Given the description of an element on the screen output the (x, y) to click on. 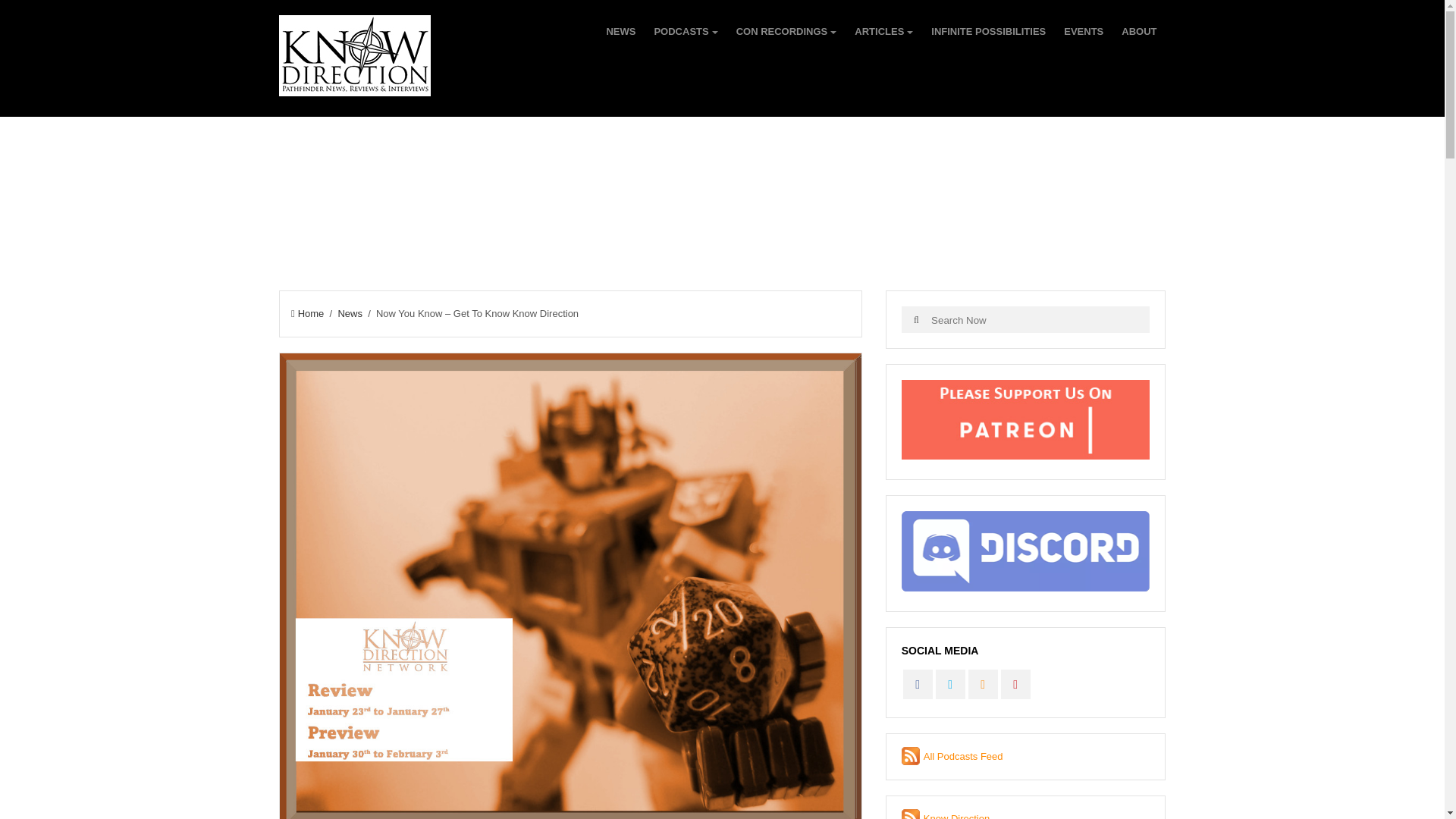
ARTICLES (883, 31)
INFINITE POSSIBILITIES (988, 31)
NEWS (619, 31)
PODCASTS (685, 31)
EVENTS (1083, 31)
CON RECORDINGS (786, 31)
